Given the description of an element on the screen output the (x, y) to click on. 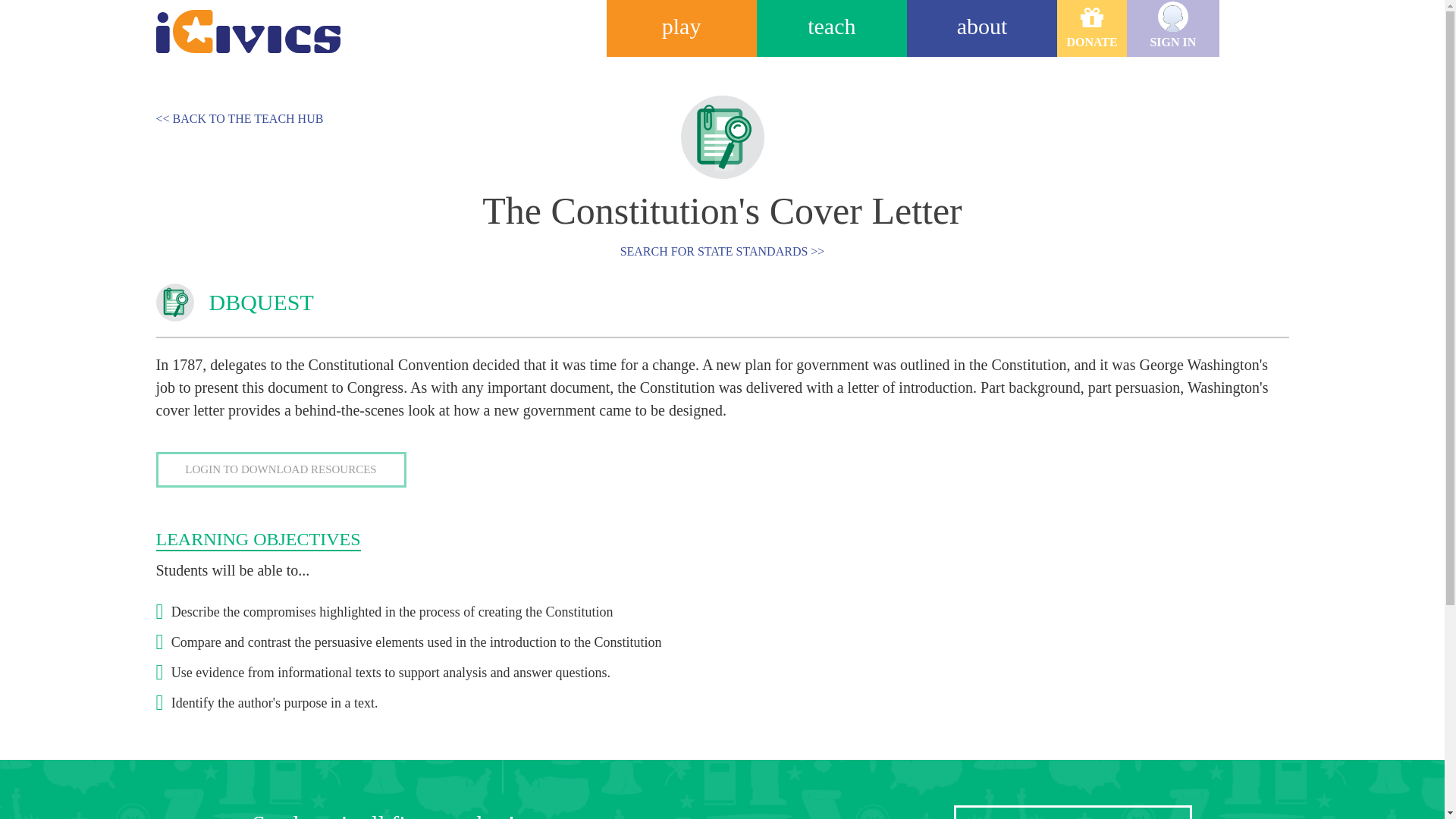
Home (236, 24)
Play Games (682, 28)
